Given the description of an element on the screen output the (x, y) to click on. 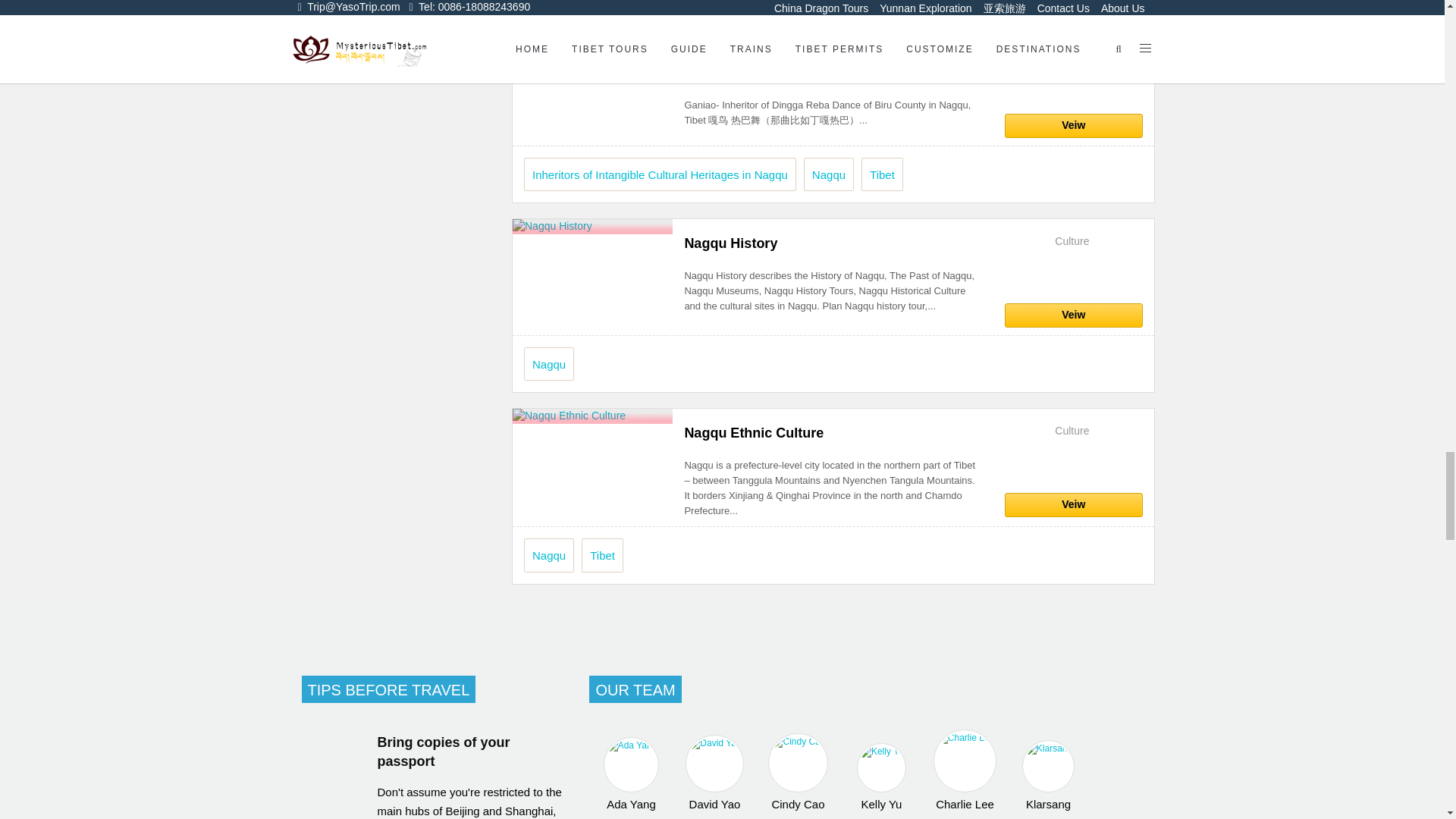
Kelly Yu (881, 776)
David Yao (713, 772)
Charlie Lee (964, 770)
Ada Yang (630, 774)
Cindy Cao (797, 772)
Klarsang (1047, 775)
